Given the description of an element on the screen output the (x, y) to click on. 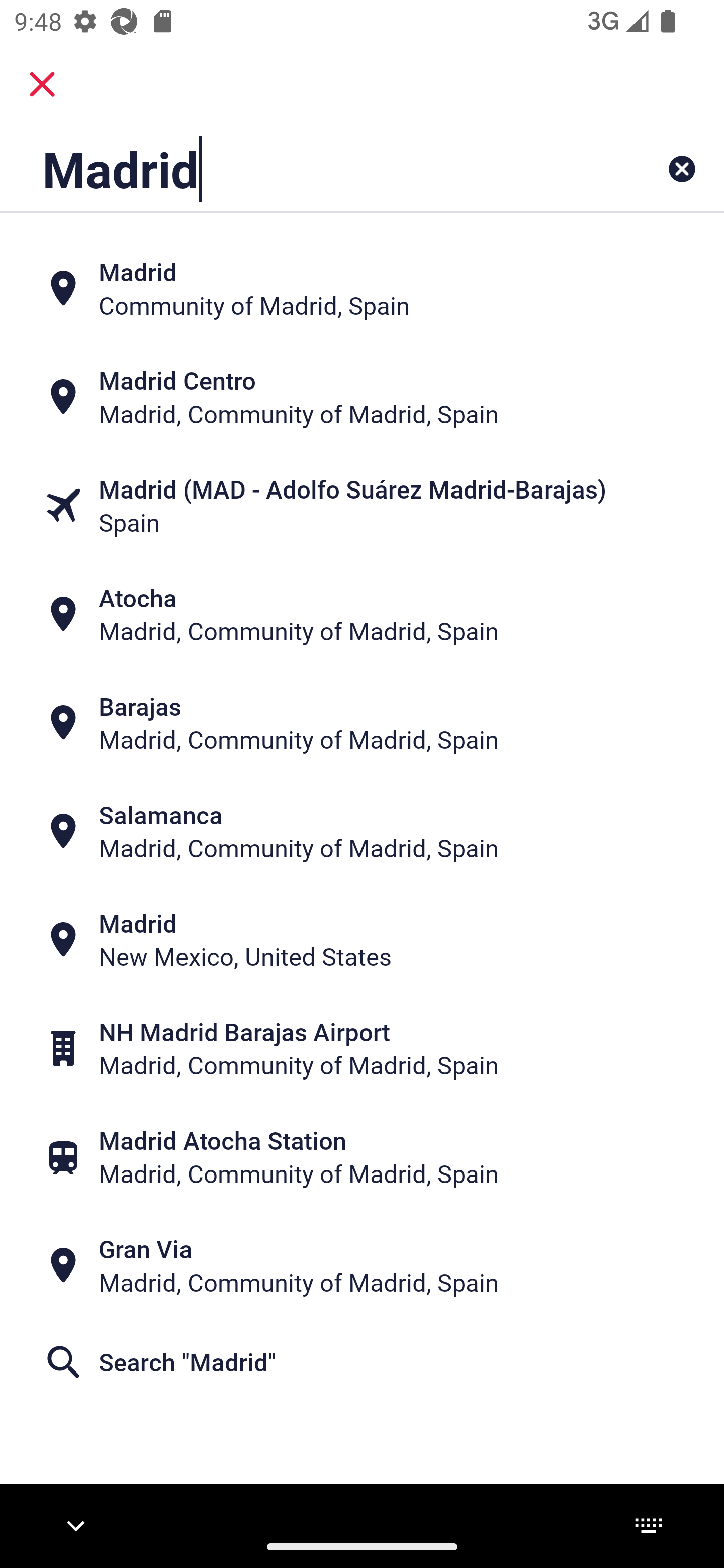
close. (42, 84)
Clear (681, 169)
Madrid (298, 169)
Madrid Community of Madrid, Spain (362, 288)
Madrid Centro Madrid, Community of Madrid, Spain (362, 397)
Madrid (MAD - Adolfo Suárez Madrid-Barajas) Spain (362, 505)
Atocha Madrid, Community of Madrid, Spain (362, 613)
Barajas Madrid, Community of Madrid, Spain (362, 722)
Salamanca Madrid, Community of Madrid, Spain (362, 831)
Madrid New Mexico, United States (362, 939)
Gran Via Madrid, Community of Madrid, Spain (362, 1265)
Search "Madrid" (361, 1362)
